Given the description of an element on the screen output the (x, y) to click on. 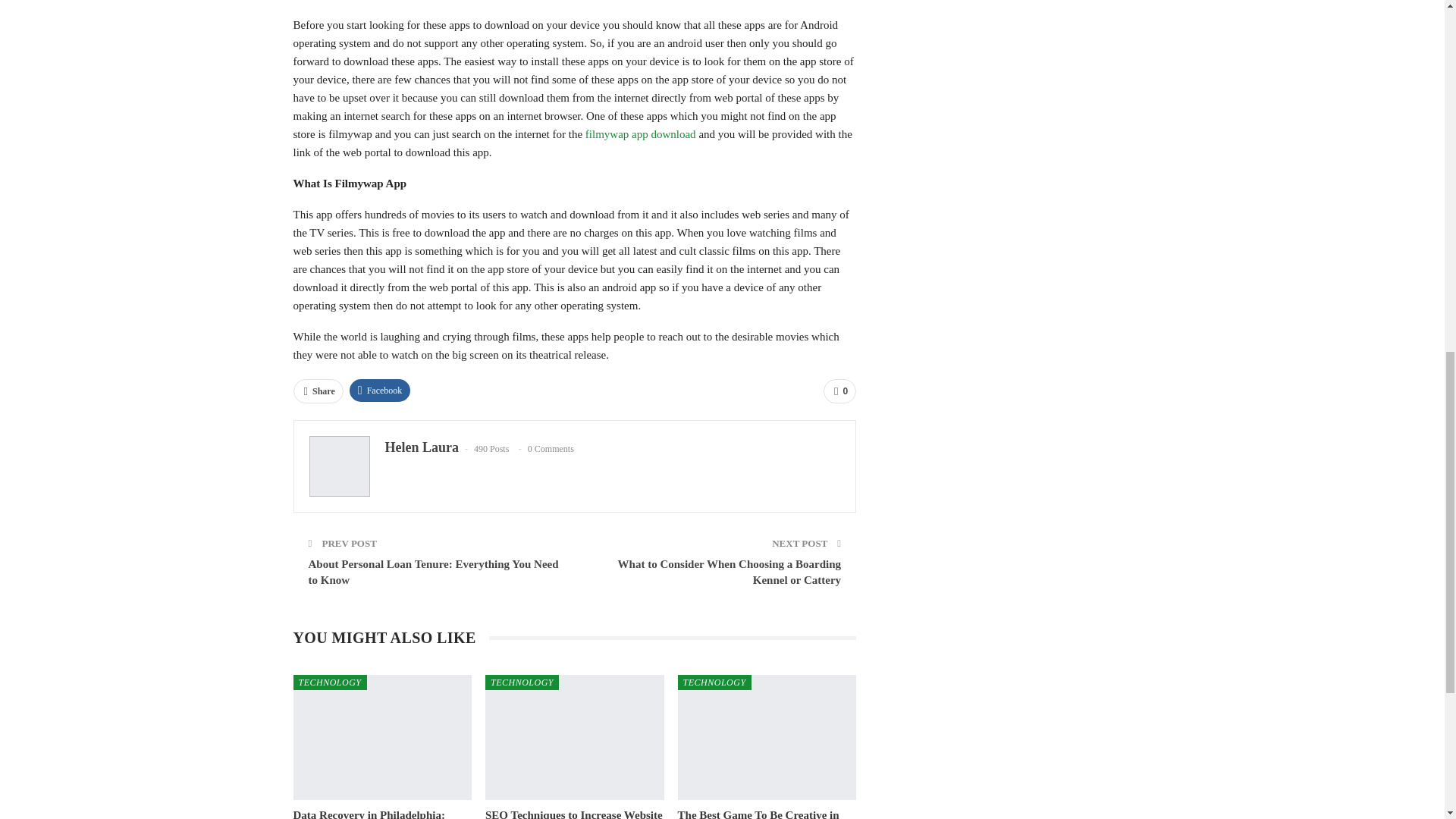
What to Consider When Choosing a Boarding Kennel or Cattery (729, 571)
TECHNOLOGY (329, 682)
YOU MIGHT ALSO LIKE (389, 638)
0 (840, 391)
About Personal Loan Tenure: Everything You Need to Know (432, 571)
TECHNOLOGY (521, 682)
Facebook (379, 390)
SEO Techniques to Increase Website Traffic (573, 737)
Helen Laura (422, 447)
The Best Game To Be Creative in Making an Own World (759, 814)
The Best Game To Be Creative in Making an Own World (767, 737)
SEO Techniques to Increase Website Traffic (573, 814)
